Given the description of an element on the screen output the (x, y) to click on. 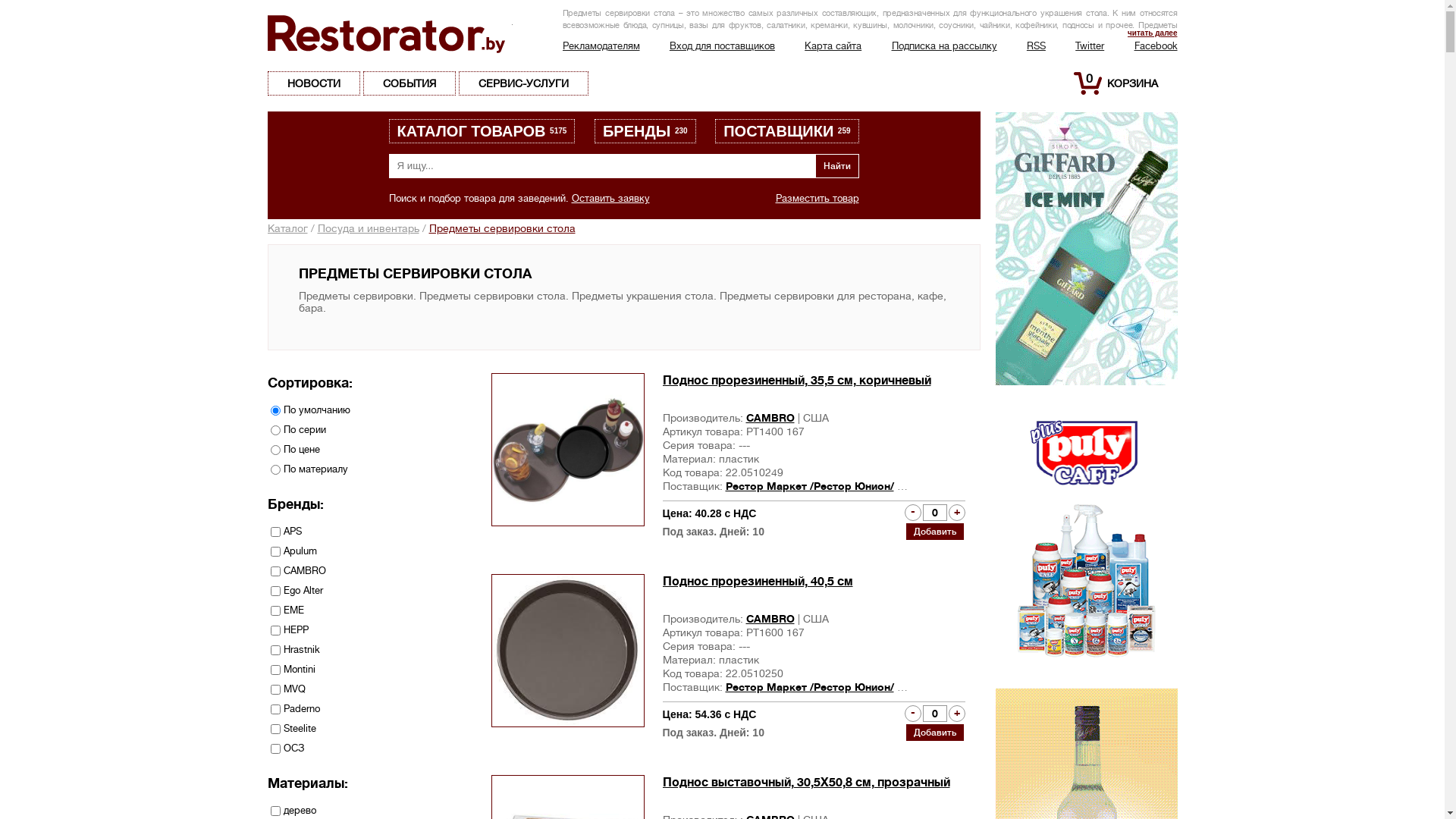
+ Element type: text (955, 512)
+ Element type: text (955, 713)
CAMBRO Element type: text (770, 417)
Egg White Giffard Element type: hover (1085, 693)
CAMBRO Element type: text (770, 618)
- Element type: text (911, 512)
RSS Element type: text (1035, 46)
Puly Element type: hover (1085, 405)
- Element type: text (911, 713)
Twitter Element type: text (1089, 46)
Facebook Element type: text (1155, 46)
Restorator.by Element type: text (388, 33)
